Given the description of an element on the screen output the (x, y) to click on. 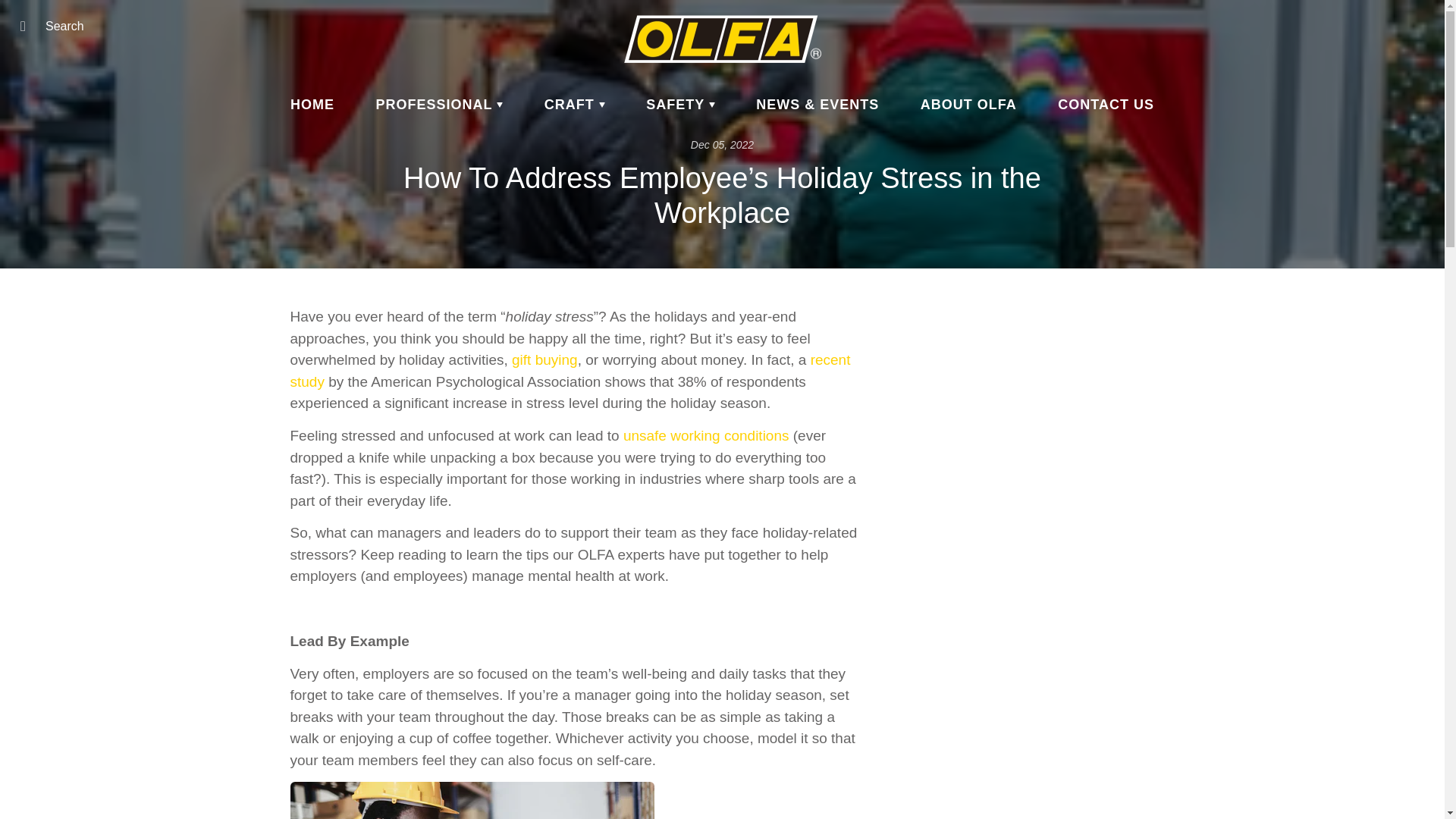
Search (28, 26)
PROFESSIONAL (439, 104)
CRAFT (574, 104)
HOME (311, 104)
